Given the description of an element on the screen output the (x, y) to click on. 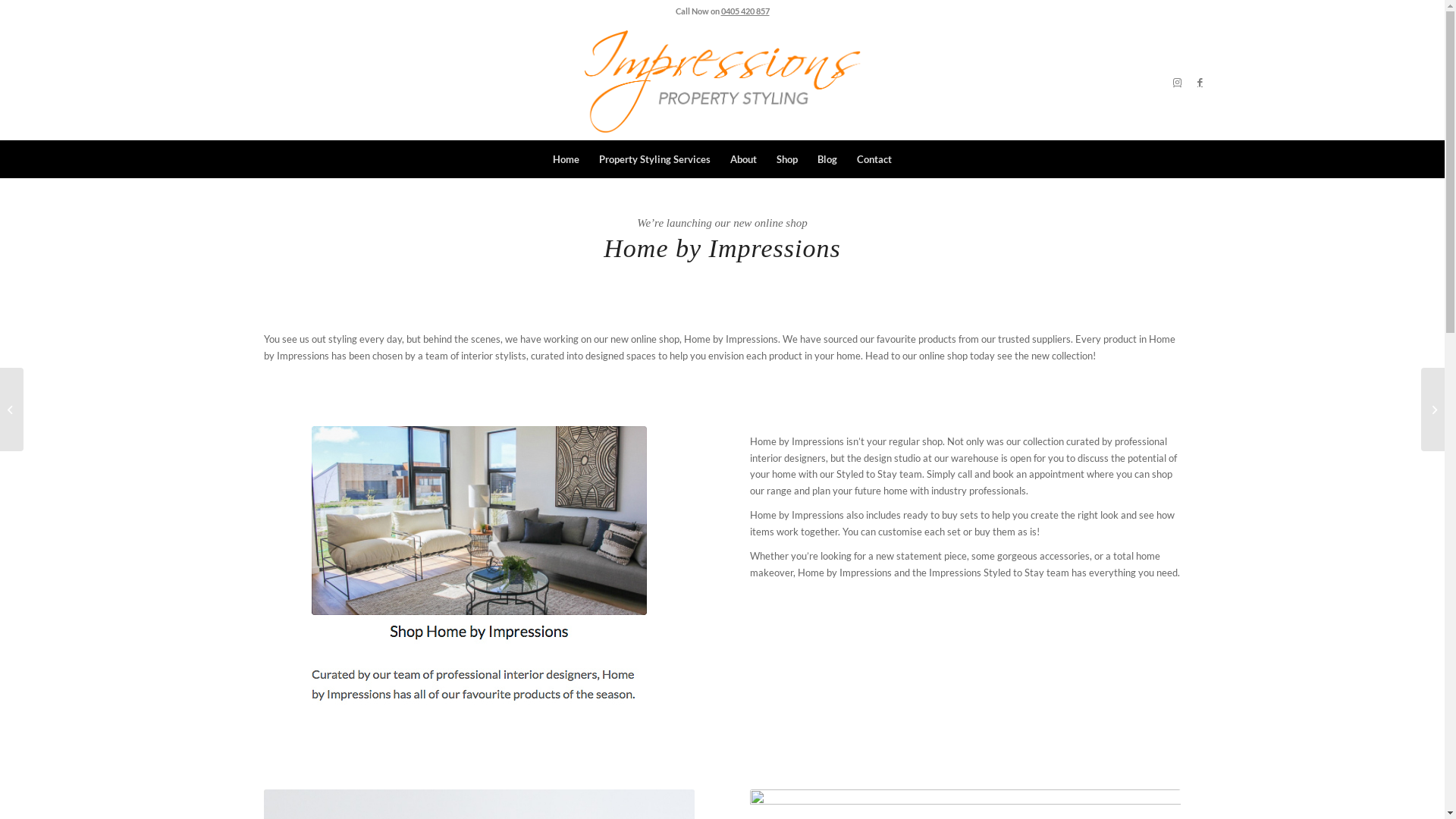
0405 420 857 Element type: text (744, 10)
Shop Element type: text (786, 159)
Home Element type: text (565, 159)
Blog Element type: text (827, 159)
Facebook Element type: hover (1200, 80)
Instagram Element type: hover (1177, 80)
Property Styling Services Element type: text (654, 159)
Contact Element type: text (874, 159)
About Element type: text (743, 159)
